Given the description of an element on the screen output the (x, y) to click on. 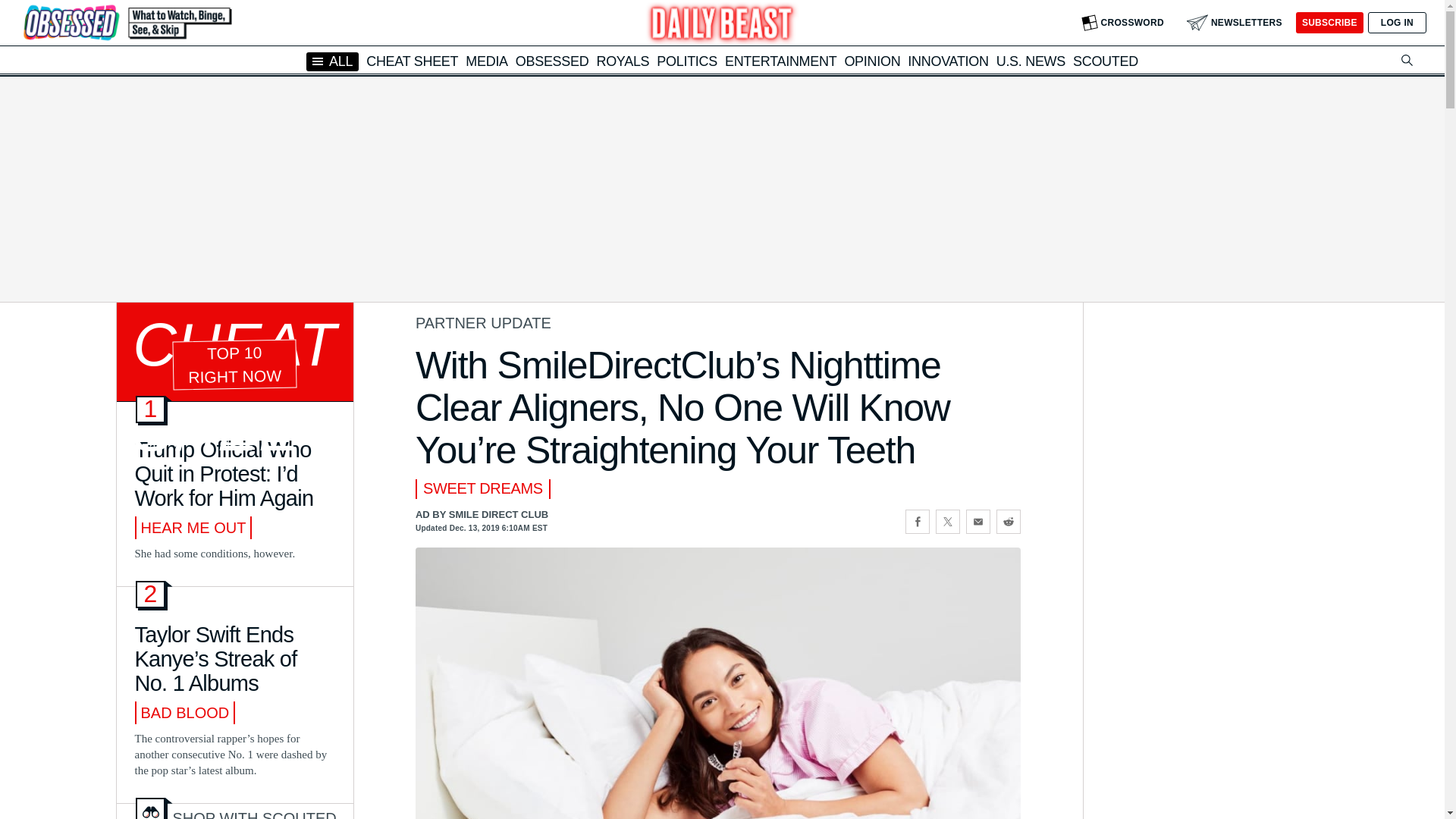
LOG IN (1397, 22)
INNOVATION (947, 60)
NEWSLETTERS (1234, 22)
ALL (331, 60)
ENTERTAINMENT (780, 60)
CROSSWORD (1122, 22)
OBSESSED (552, 60)
U.S. NEWS (1030, 60)
ROYALS (622, 60)
SUBSCRIBE (1328, 22)
